Given the description of an element on the screen output the (x, y) to click on. 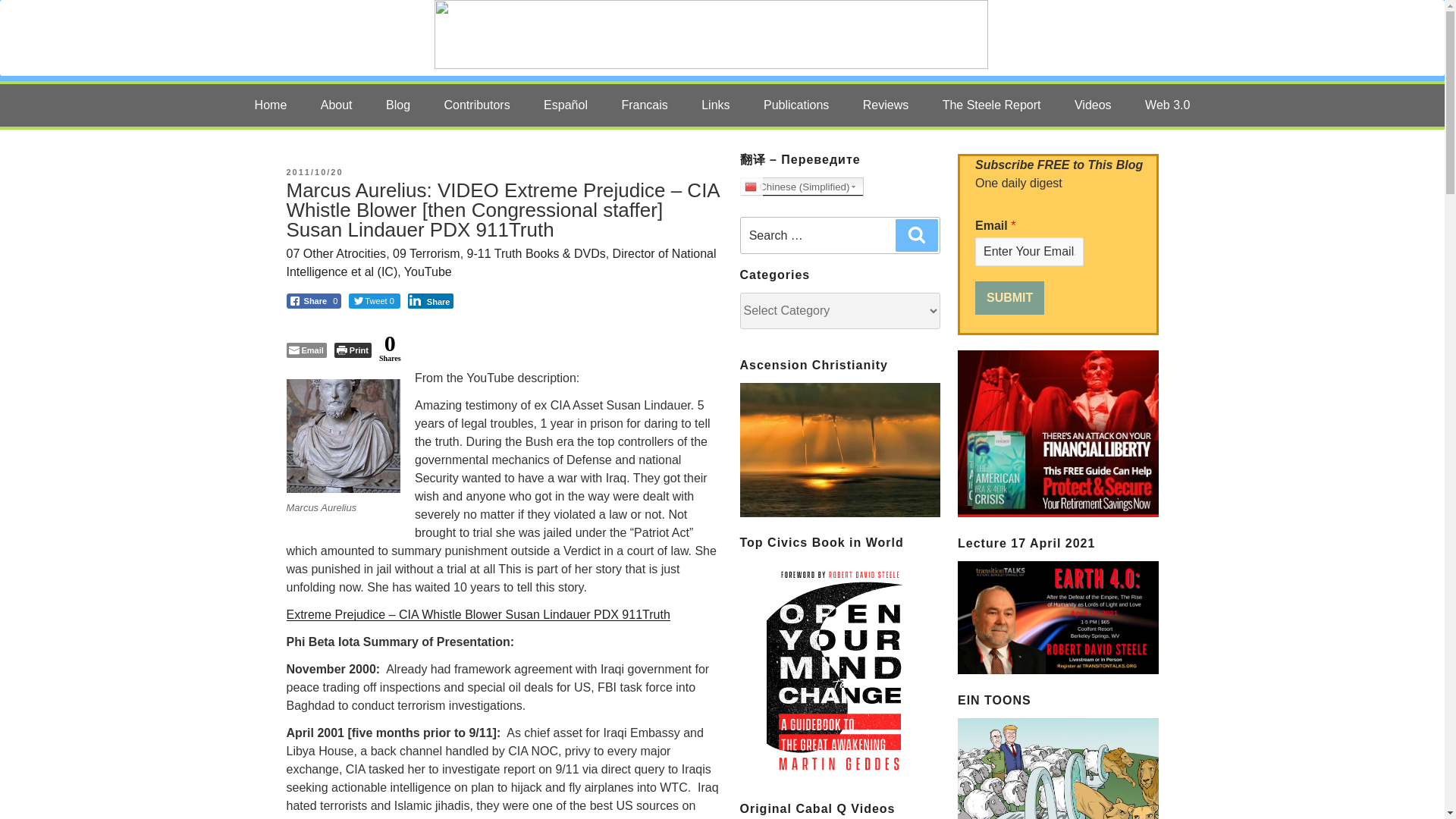
Email (306, 350)
Facebook (1051, 37)
Publications (796, 105)
Videos (1092, 105)
Print (352, 350)
Contributors (477, 105)
The Steele Report (992, 105)
About (336, 105)
Share (430, 300)
09 Terrorism (426, 253)
YouTube (1096, 37)
Twitter (1005, 37)
Francais (643, 105)
Tweet 0 (374, 300)
